Given the description of an element on the screen output the (x, y) to click on. 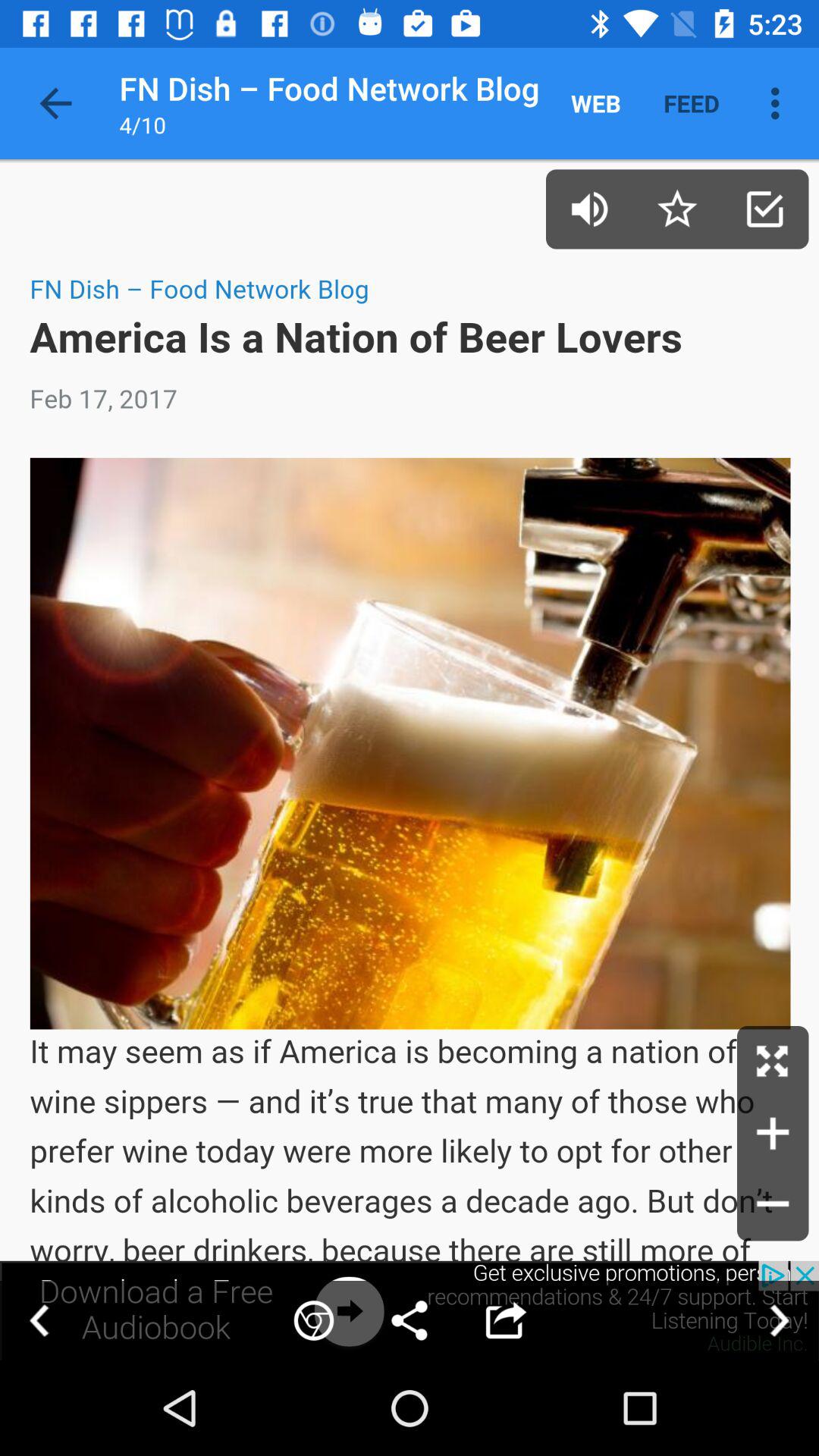
check list (764, 209)
